Given the description of an element on the screen output the (x, y) to click on. 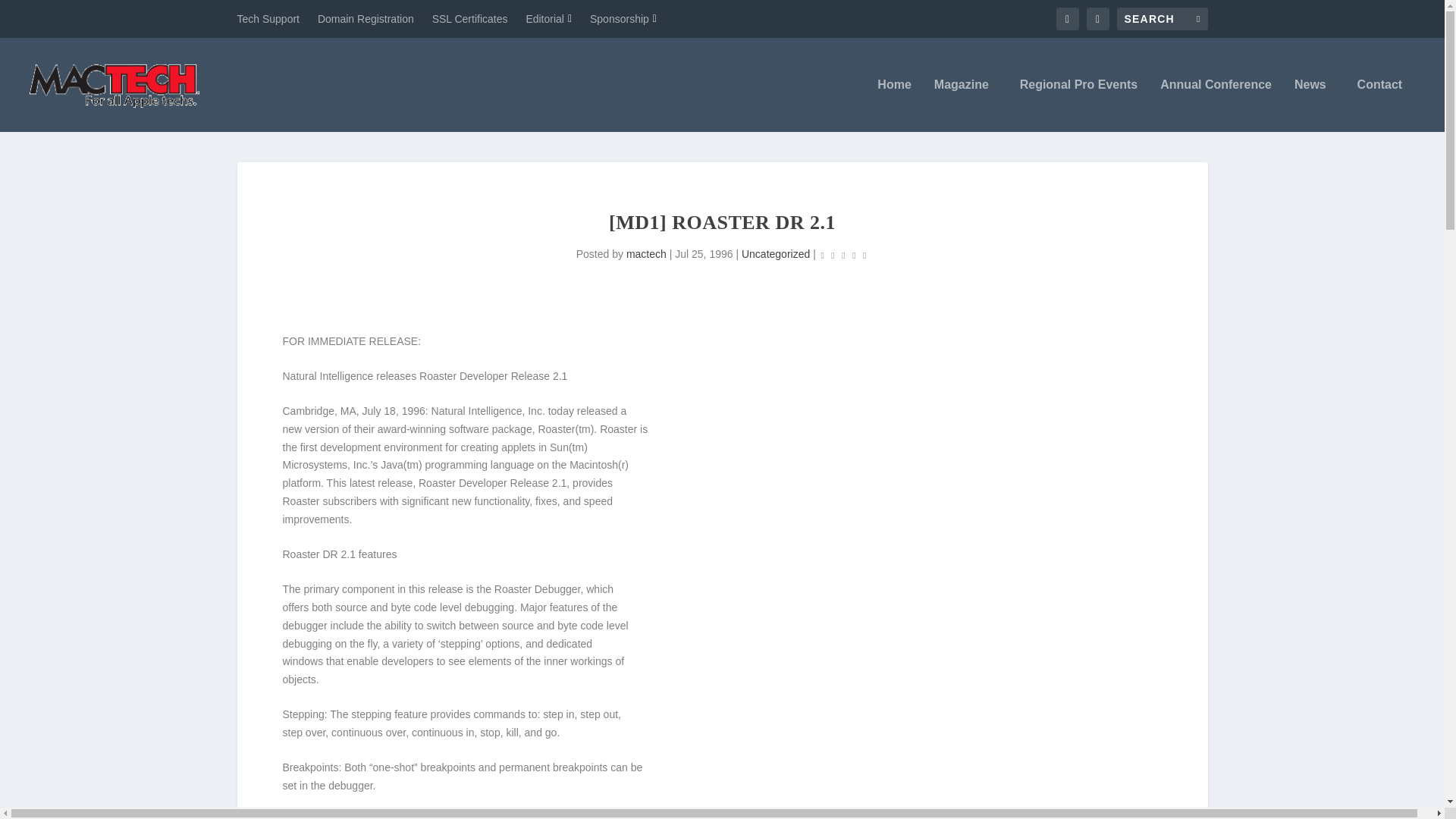
Tech Support (267, 18)
Contact (1383, 104)
Editorial (548, 18)
Posts by mactech (646, 254)
Annual Conference (1215, 104)
SSL Certificates (470, 18)
Domain Registration (365, 18)
Search for: (1161, 18)
Regional Pro Events (1079, 104)
Sponsorship (622, 18)
